Given the description of an element on the screen output the (x, y) to click on. 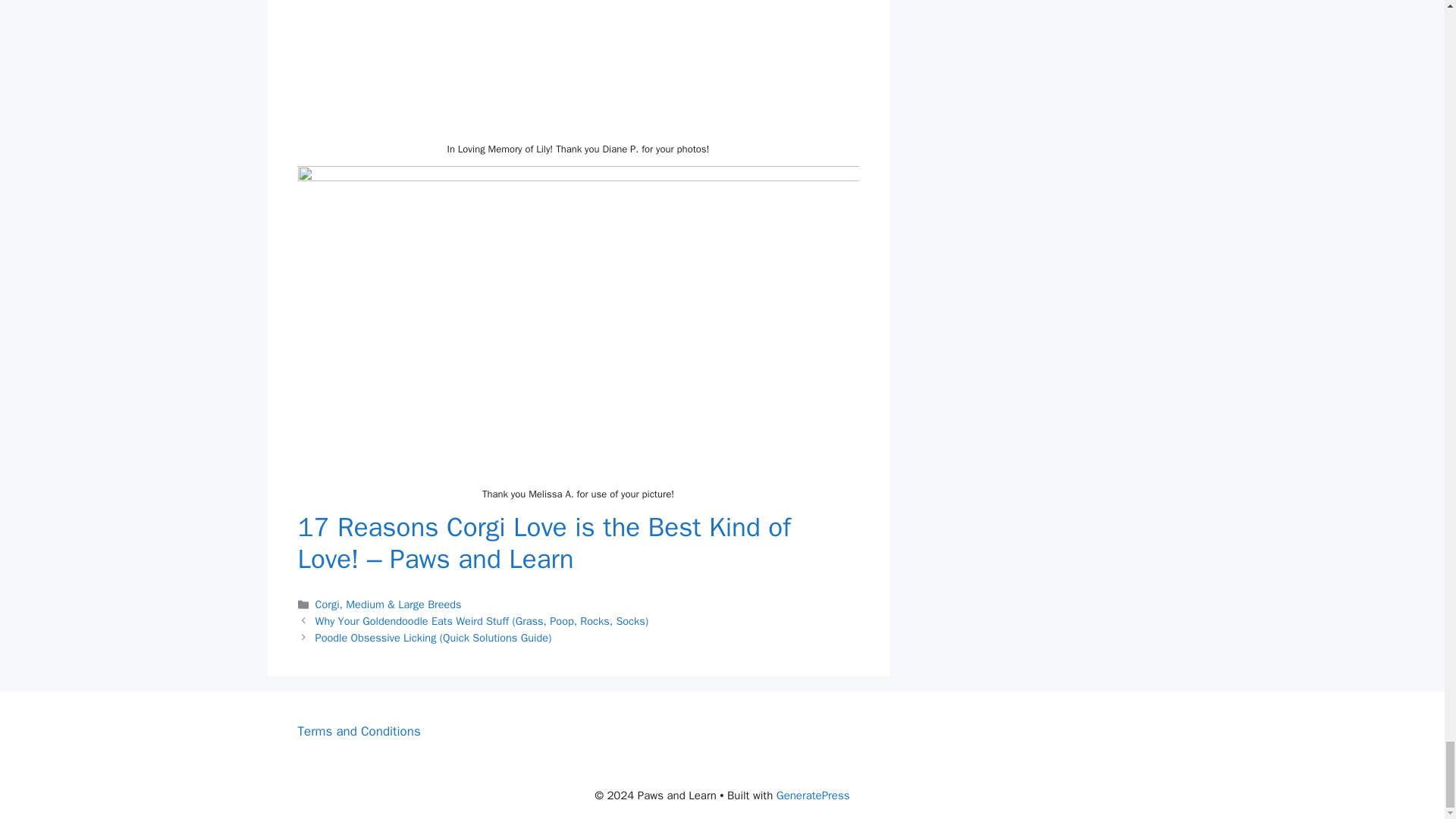
Corgi (327, 603)
